Given the description of an element on the screen output the (x, y) to click on. 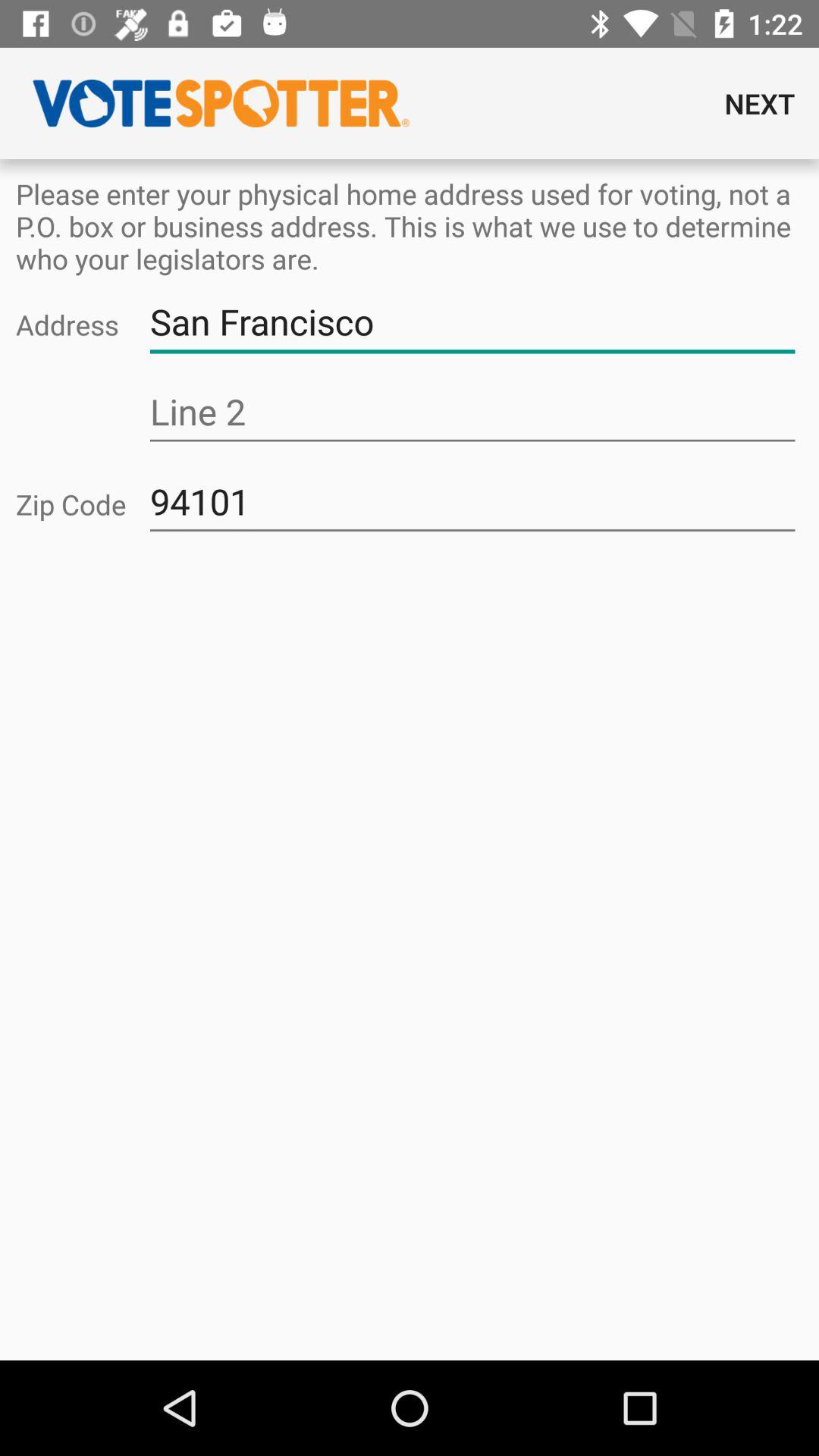
shows line2 code (472, 412)
